Given the description of an element on the screen output the (x, y) to click on. 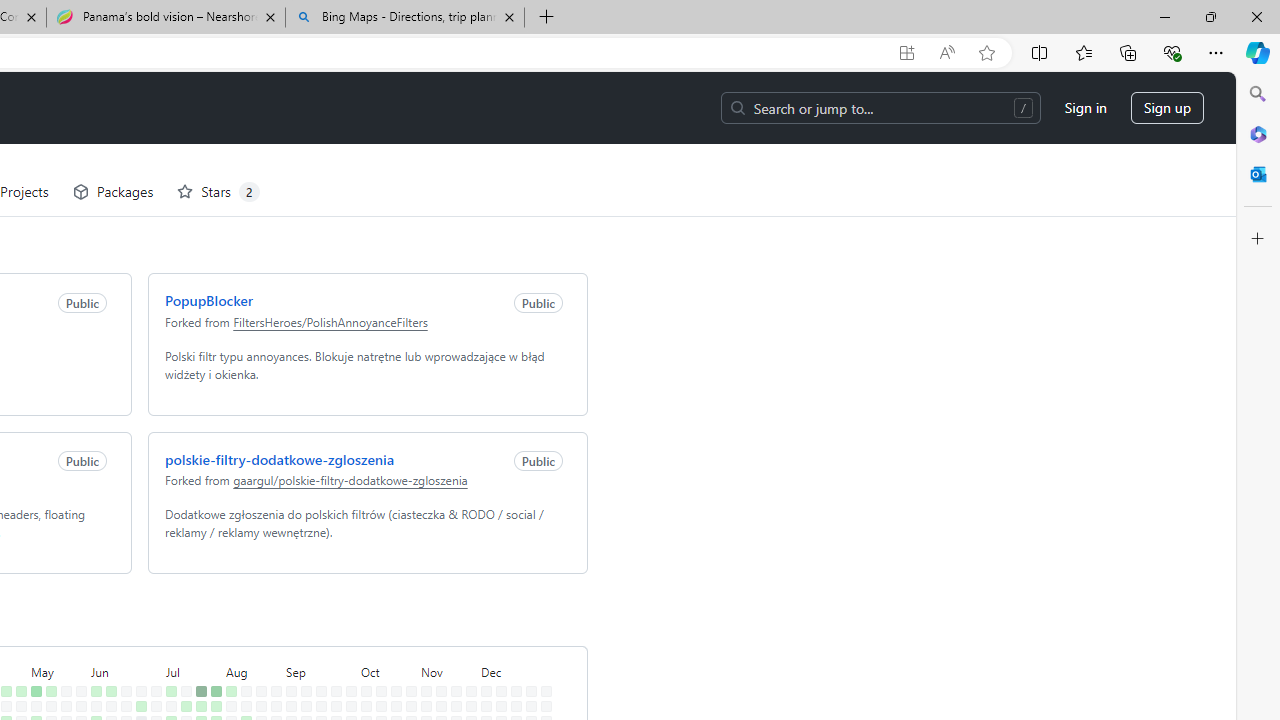
No contributions on August 6th. (226, 649)
1 contribution on July 30th. (212, 649)
No contributions on June 14th. (107, 694)
No contributions on September 18th. (317, 664)
No contributions on September 24th. (331, 649)
July (189, 598)
7 contributions on June 6th. (92, 678)
No contributions on August 8th. (226, 678)
No contributions on November 14th. (437, 678)
No contributions on December 25th. (527, 664)
No contributions on September 12th. (302, 678)
No contributions on May 21st. (62, 649)
No contributions on August 29th. (272, 678)
2 contributions on May 1st. (17, 664)
